Given the description of an element on the screen output the (x, y) to click on. 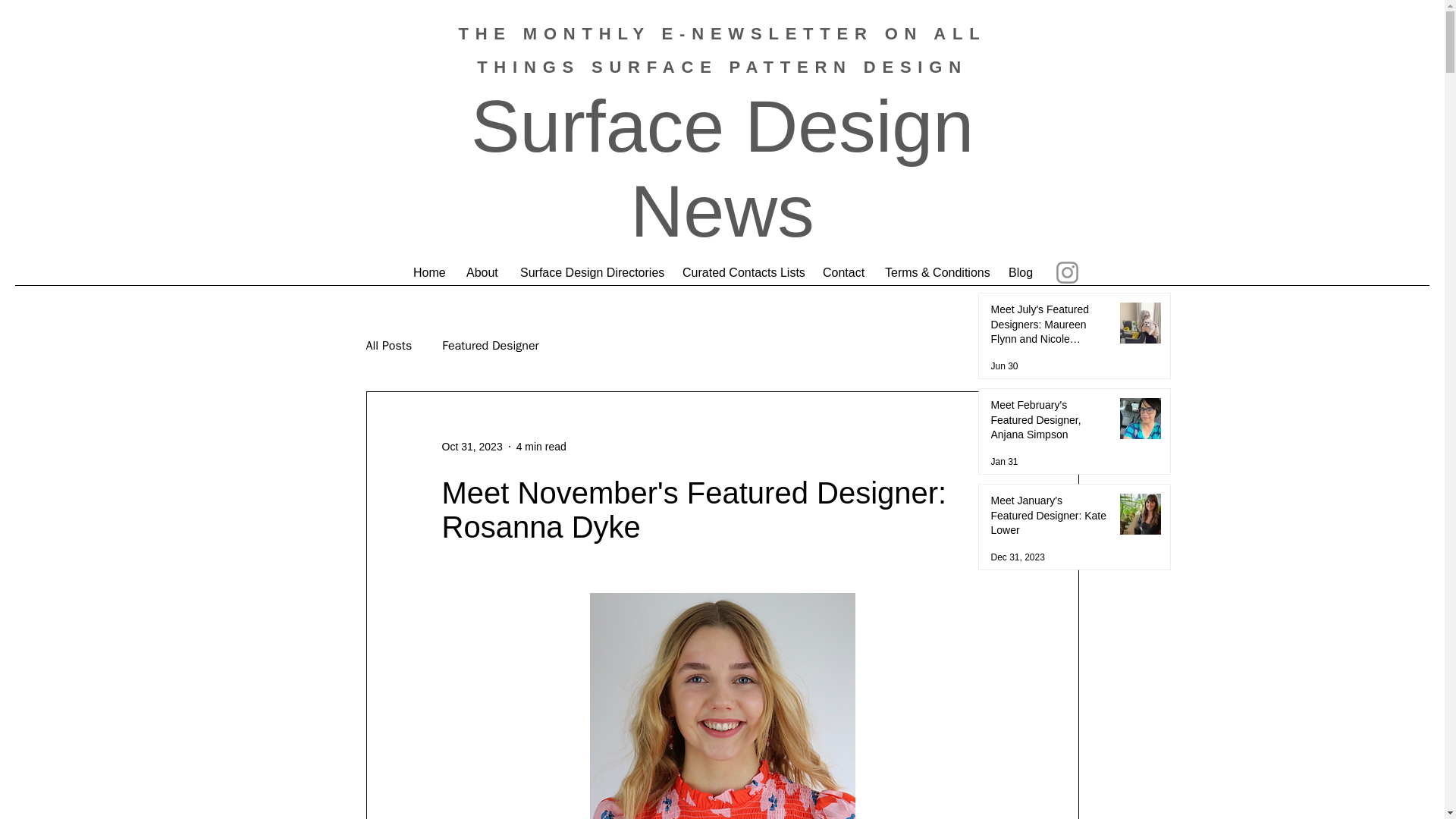
4 min read (541, 445)
Home (427, 272)
Featured Designer (490, 345)
Meet February's Featured Designer, Anjana Simpson (1048, 423)
All Posts (388, 345)
About (481, 272)
Jun 30 (1003, 366)
Surface Design Directories (589, 272)
Blog (1019, 272)
Oct 31, 2023 (471, 445)
Surface Design News (722, 168)
Dec 31, 2023 (1016, 557)
Contact (841, 272)
Jan 31 (1003, 461)
